Given the description of an element on the screen output the (x, y) to click on. 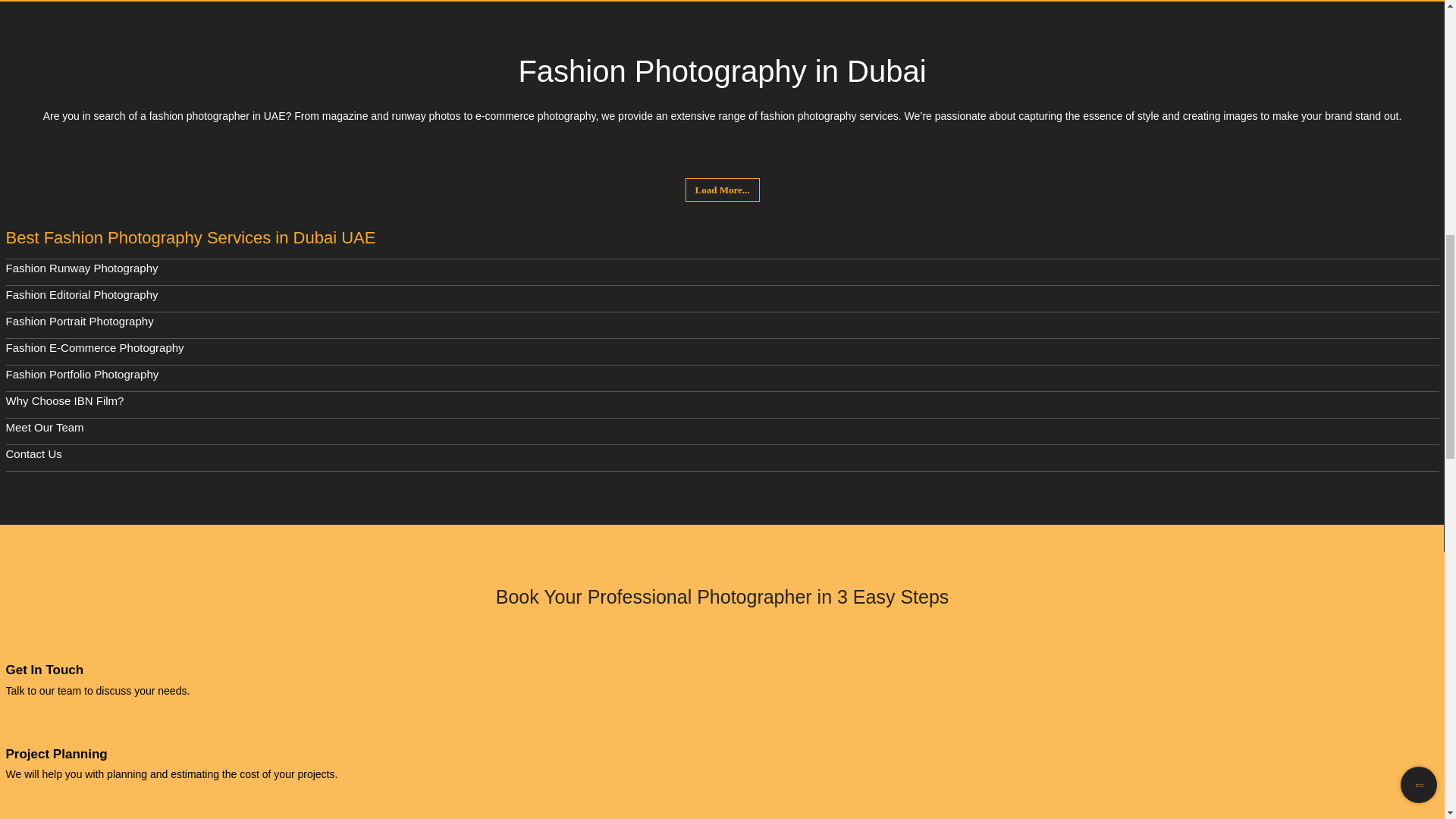
Load More... (722, 189)
